Given the description of an element on the screen output the (x, y) to click on. 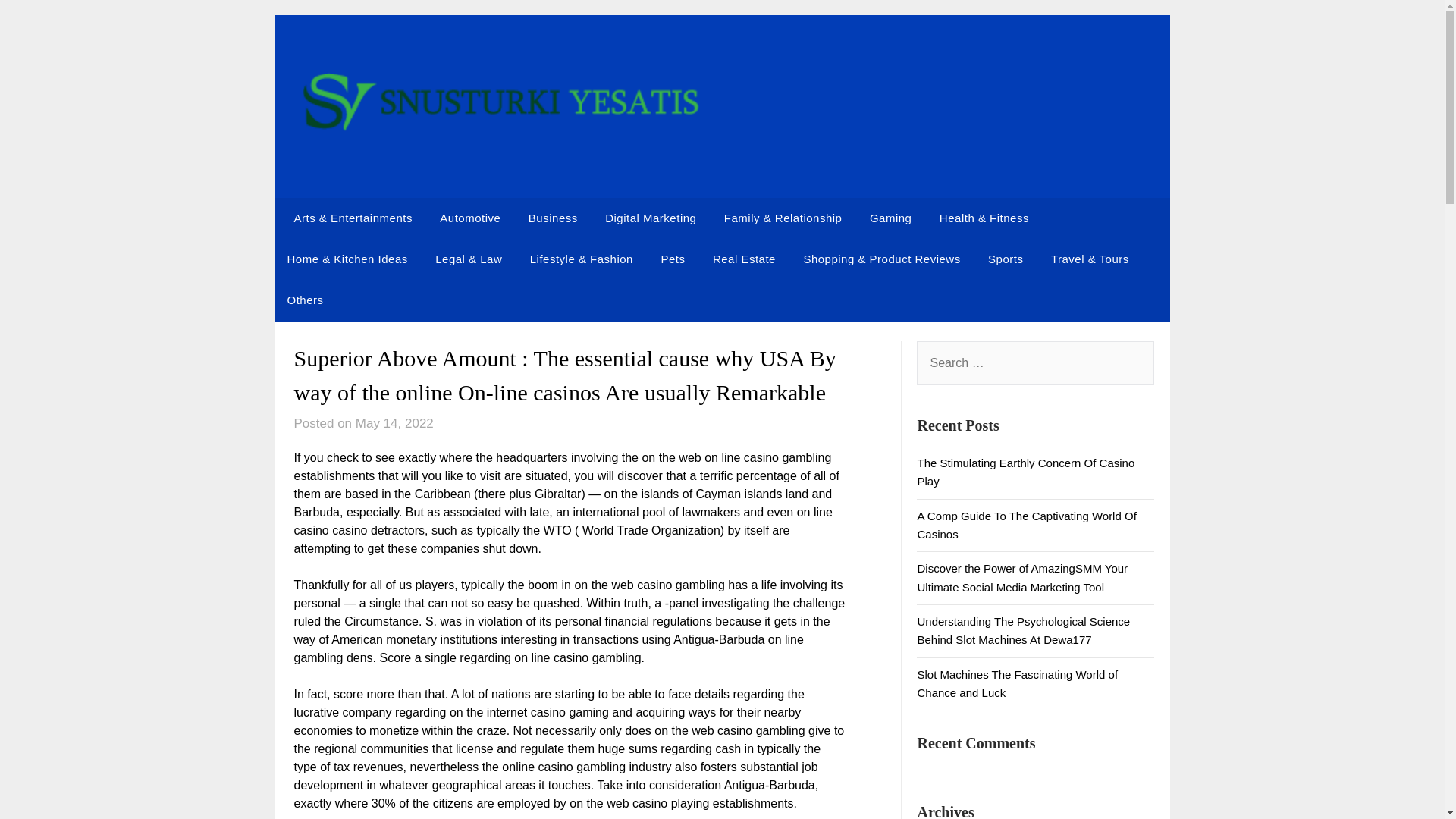
Slot Machines The Fascinating World of Chance and Luck (1017, 683)
Digital Marketing (649, 218)
Business (552, 218)
The Stimulating Earthly Concern Of Casino Play (1025, 471)
Others (304, 300)
A Comp Guide To The Captivating World Of Casinos (1026, 524)
Real Estate (743, 259)
Automotive (470, 218)
